Given the description of an element on the screen output the (x, y) to click on. 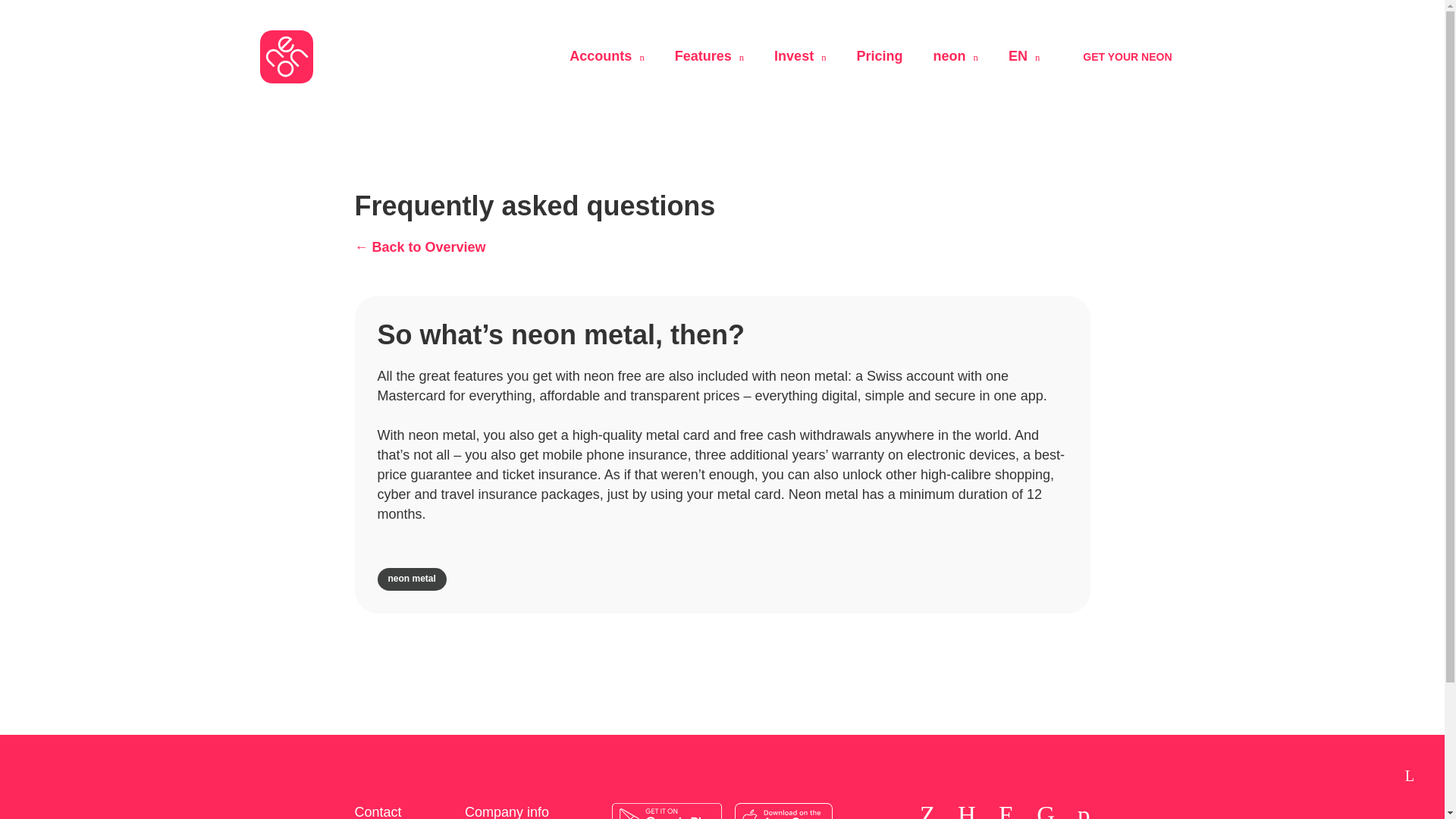
Home - neon (286, 56)
Invest (799, 55)
Accounts (606, 55)
Pricing (879, 55)
Accounts (606, 55)
Features (709, 55)
neon (955, 55)
Company info (519, 811)
Pricing (879, 55)
Invest (799, 55)
